Given the description of an element on the screen output the (x, y) to click on. 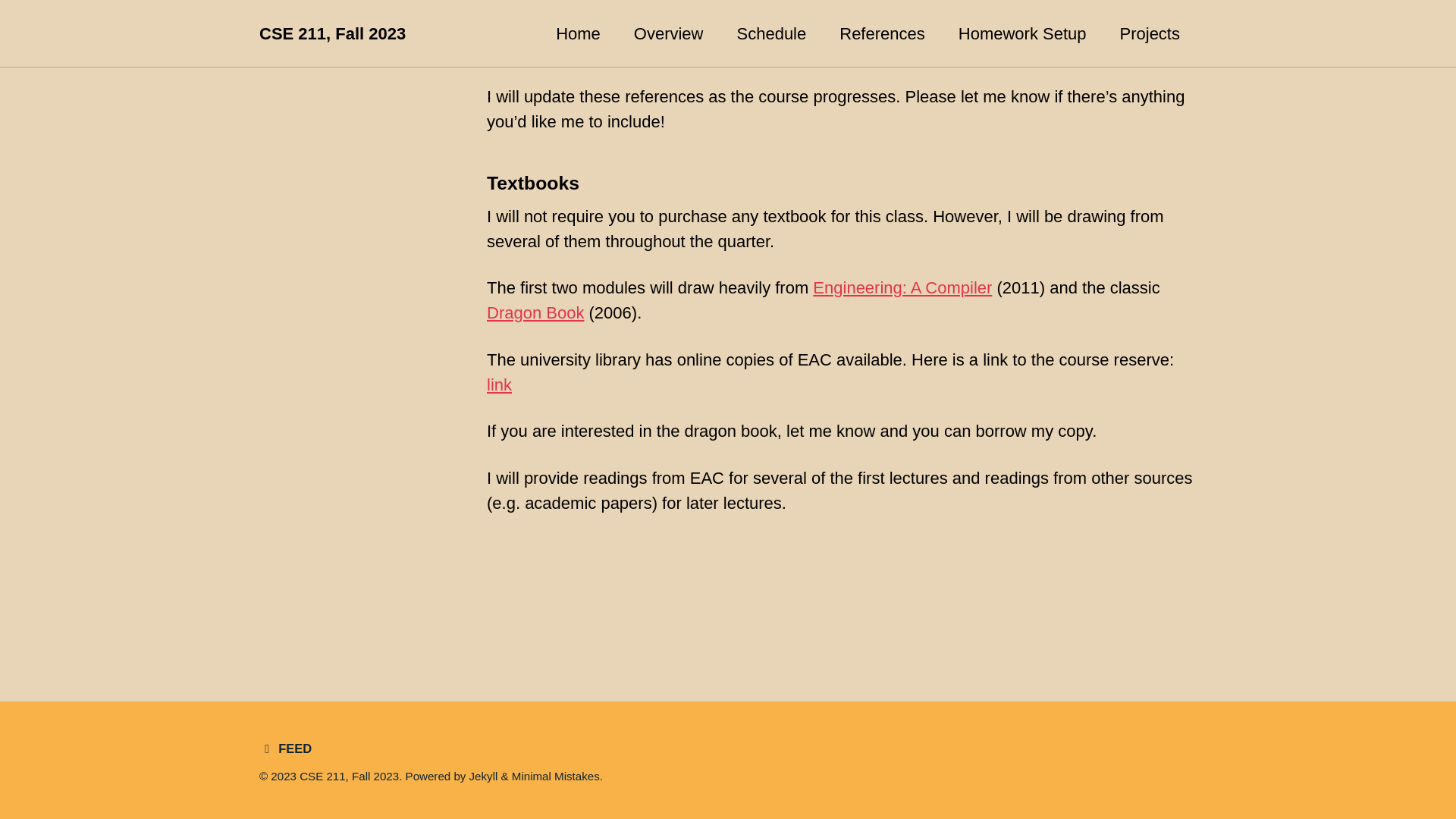
Engineering: A Compiler (901, 287)
Schedule (771, 33)
References (882, 33)
link (499, 384)
Home (577, 33)
Jekyll (482, 775)
Projects (1149, 33)
Overview (668, 33)
Minimal Mistakes (555, 775)
